Given the description of an element on the screen output the (x, y) to click on. 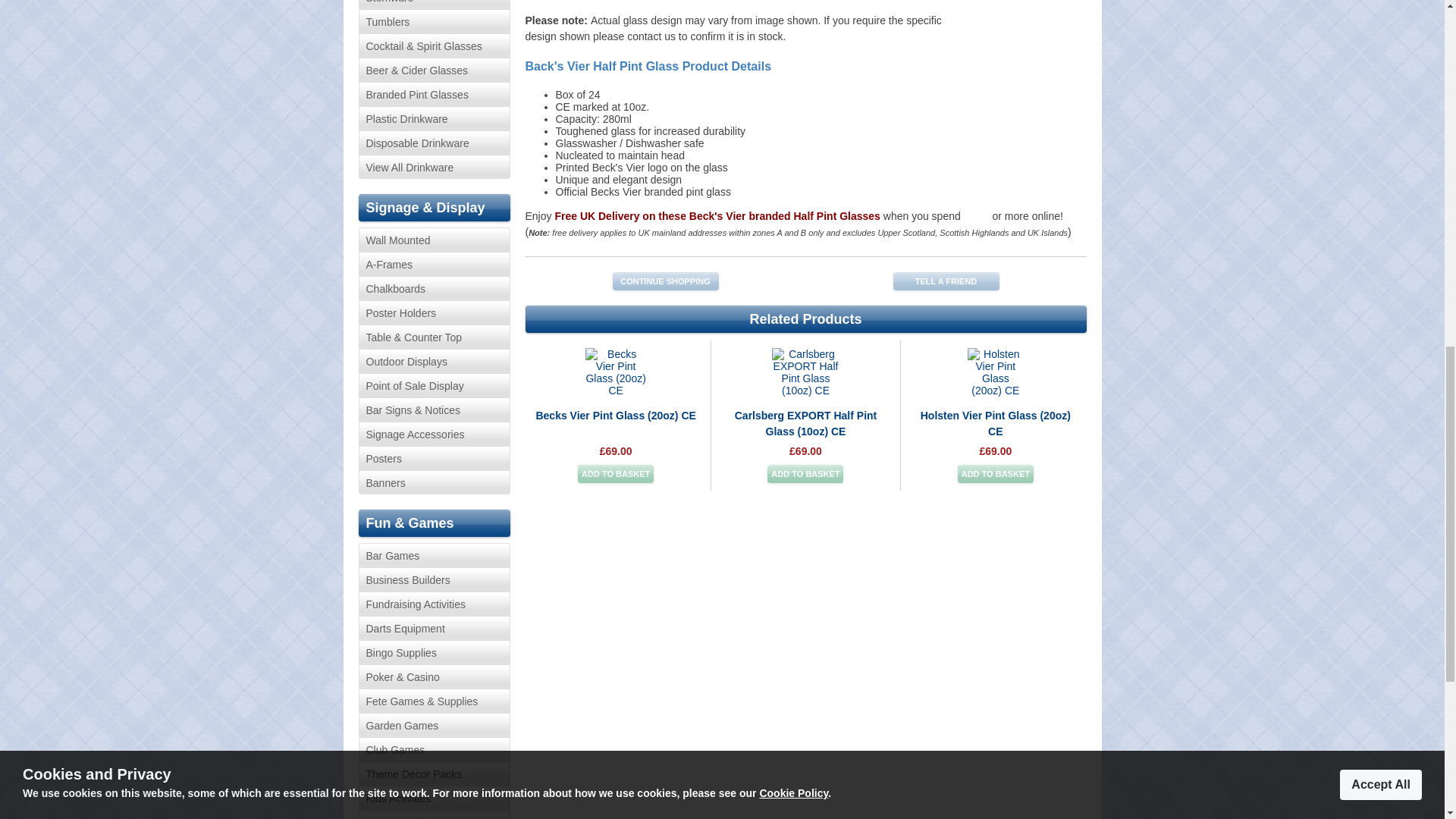
View All Drinkware (433, 166)
Point of Sale Display (433, 385)
Disposable Drinkware (433, 142)
Signage Accessories (433, 433)
Tumblers (433, 21)
A-Frames (433, 263)
Banners (433, 482)
Plastic Drinkware (433, 118)
Chalkboards (433, 288)
Posters (433, 457)
Branded Pint Glasses (433, 93)
Wall Mounted (433, 239)
Stemware (433, 4)
Outdoor Displays (433, 360)
Poster Holders (433, 312)
